Given the description of an element on the screen output the (x, y) to click on. 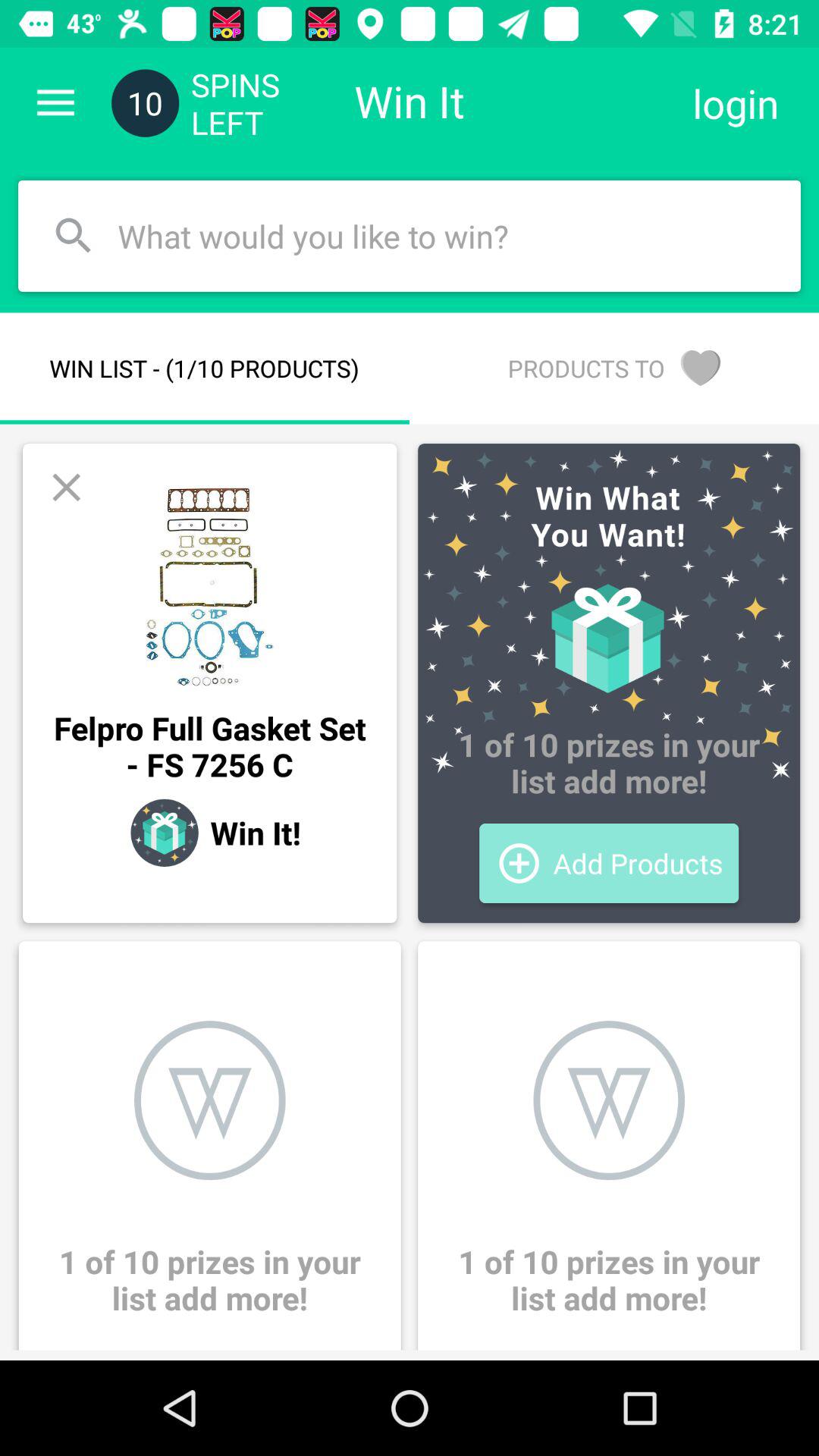
open item next to the 10 icon (55, 103)
